Given the description of an element on the screen output the (x, y) to click on. 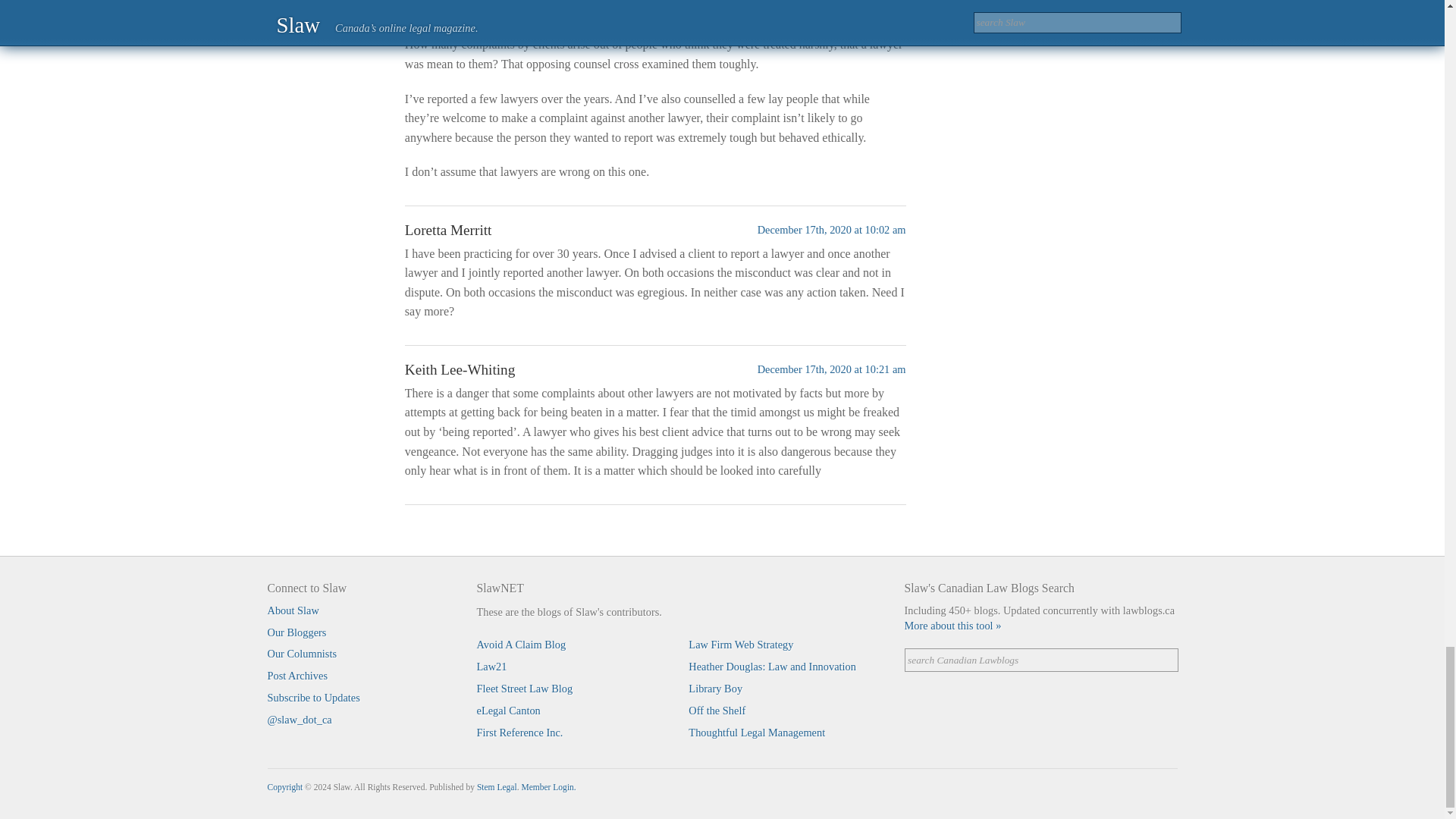
search Canadian Lawblogs (1040, 659)
